Given the description of an element on the screen output the (x, y) to click on. 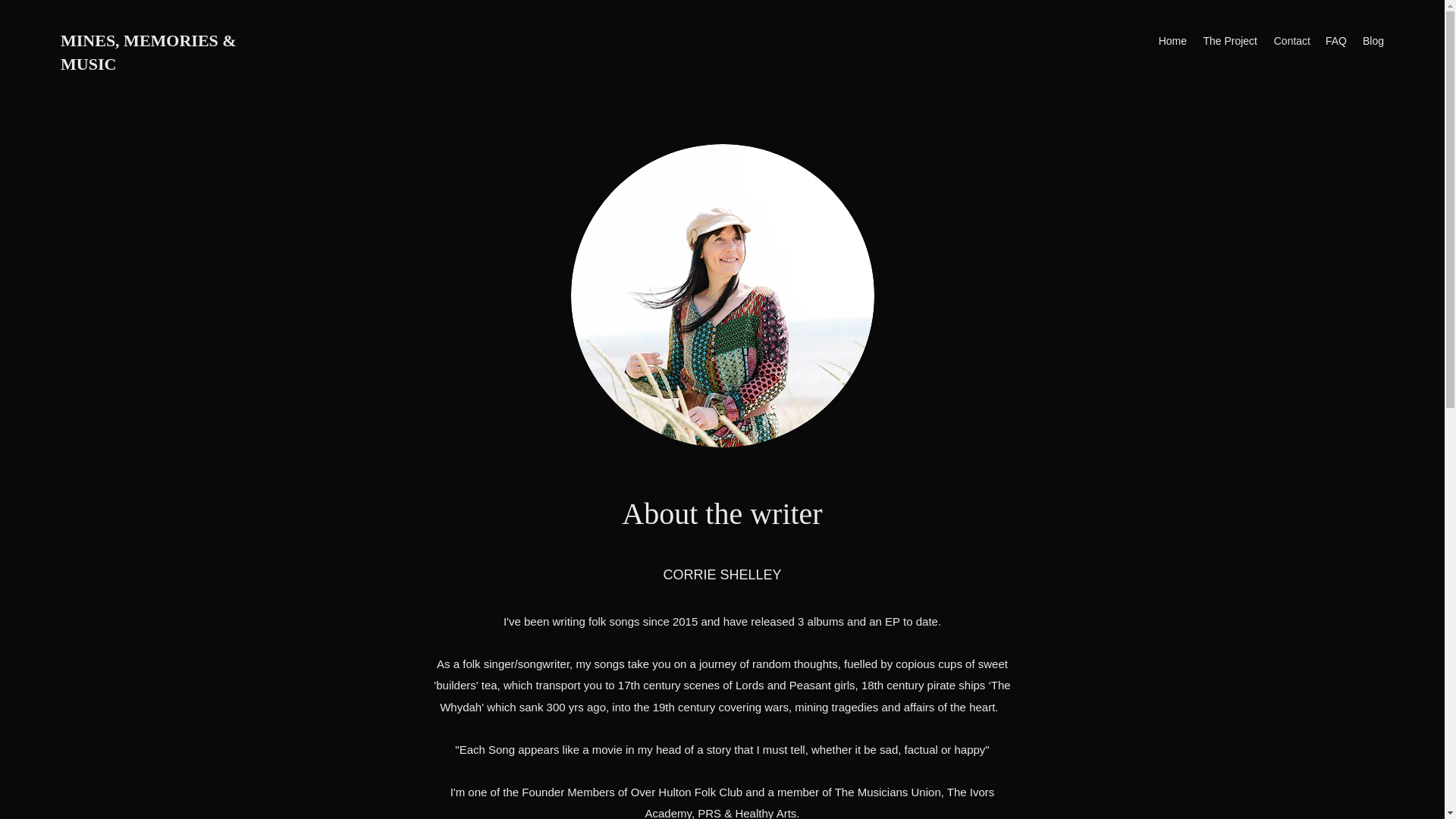
Home (1171, 40)
The Project (1229, 40)
FAQ (1335, 40)
Blog (1372, 40)
Contact (1291, 40)
